Given the description of an element on the screen output the (x, y) to click on. 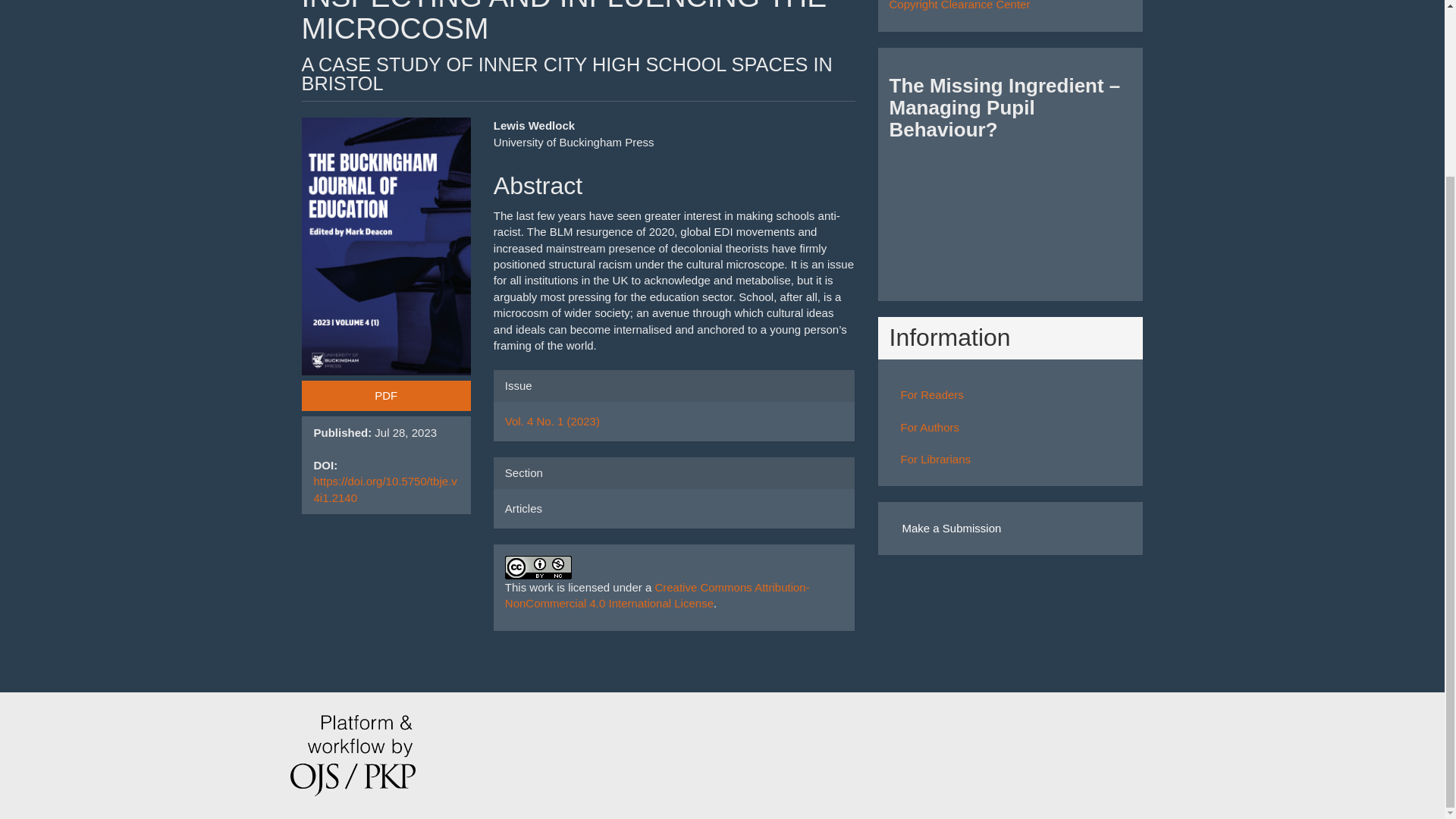
For Readers (932, 394)
YouTube video player (1009, 212)
PDF (385, 395)
Make a Submission (950, 527)
For Librarians (936, 459)
For Authors (930, 427)
Copyright Clearance Center (958, 5)
